Given the description of an element on the screen output the (x, y) to click on. 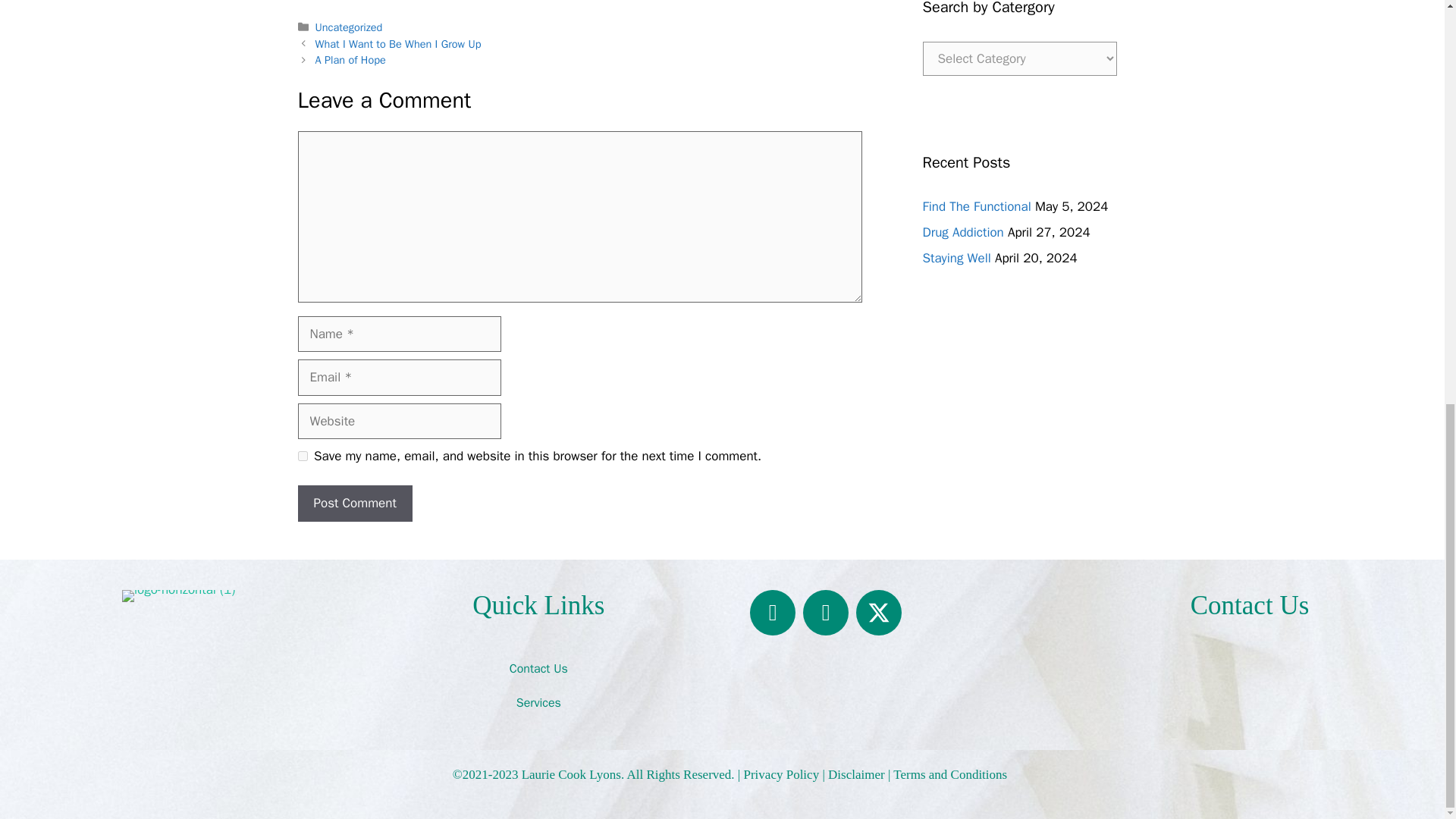
Post Comment (354, 503)
Uncategorized (348, 27)
Facebook (771, 612)
Staying Well (955, 258)
What I Want to Be When I Grow Up (398, 43)
A Plan of Hope (350, 59)
yes (302, 456)
Services (537, 702)
Instagram (825, 612)
Post Comment (354, 503)
